Given the description of an element on the screen output the (x, y) to click on. 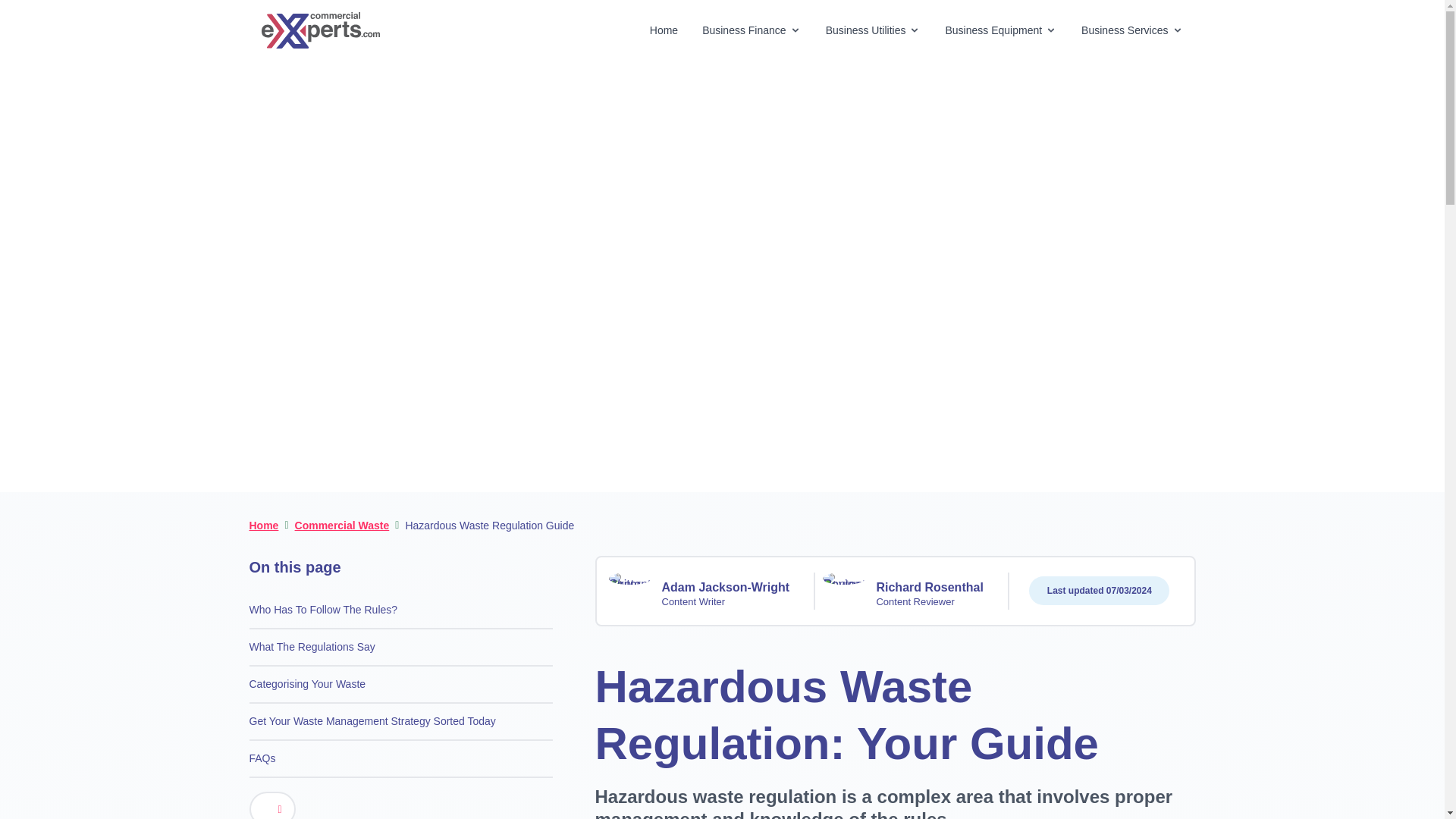
Business Utilities (873, 29)
Business Services (1131, 29)
Dry Recycling (721, 272)
Business Finance (751, 29)
Hazardous (572, 369)
General (572, 272)
Home (663, 29)
Clinical (721, 369)
Other Multiple (871, 369)
Food Waste (871, 272)
